Given the description of an element on the screen output the (x, y) to click on. 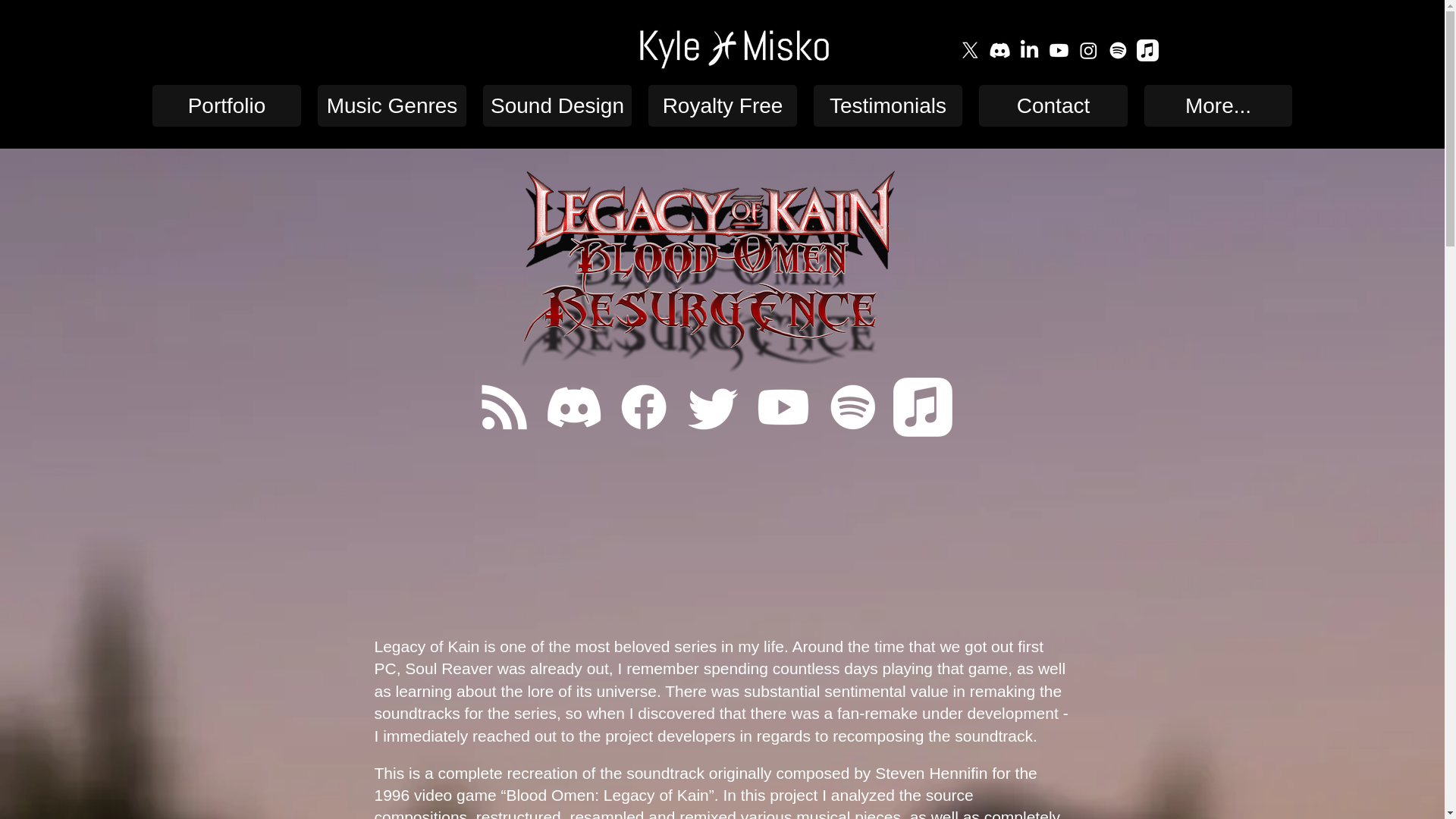
Testimonials (887, 105)
Music Genres (391, 105)
Royalty Free (721, 105)
Contact (1052, 105)
Sound Design (557, 105)
Portfolio (226, 105)
